Given the description of an element on the screen output the (x, y) to click on. 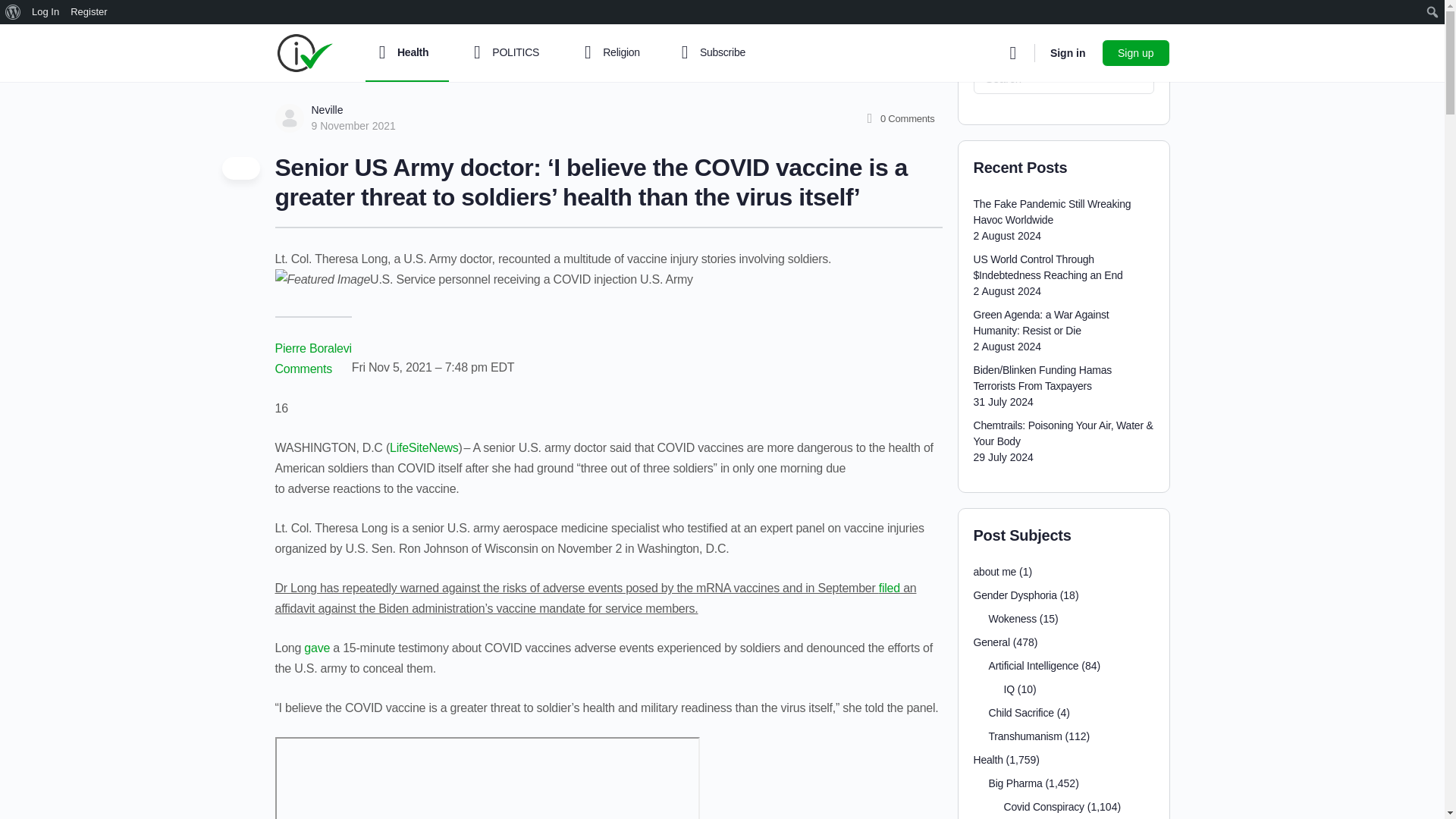
Register (89, 12)
Subscribe (710, 52)
Log In (45, 12)
Religion (615, 52)
Sign in (1067, 53)
Sign up (1135, 52)
POLITICS (509, 52)
Comment on this article (304, 368)
Search (16, 12)
Health (406, 52)
